Given the description of an element on the screen output the (x, y) to click on. 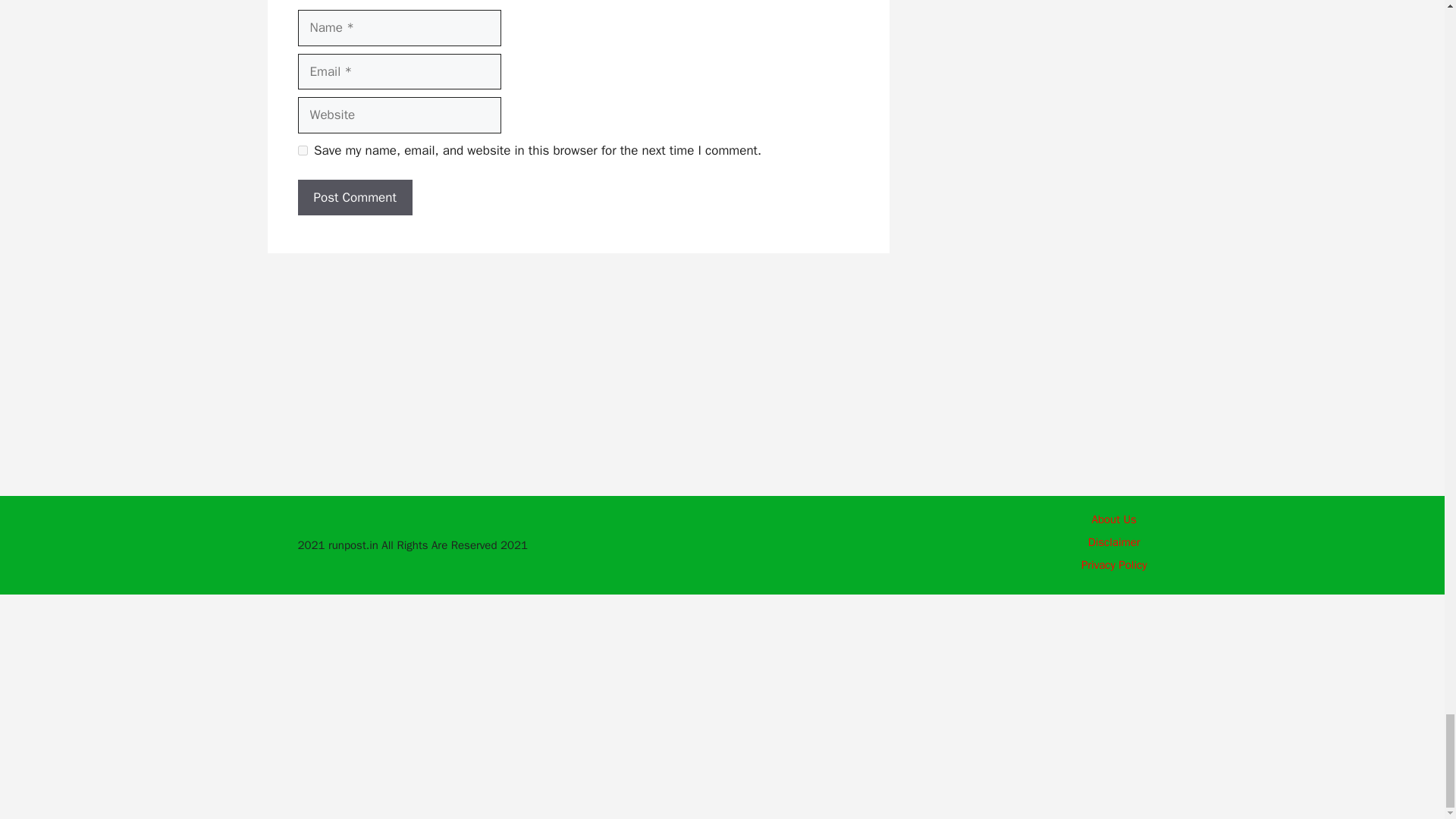
Post Comment (354, 197)
Post Comment (354, 197)
yes (302, 150)
